Given the description of an element on the screen output the (x, y) to click on. 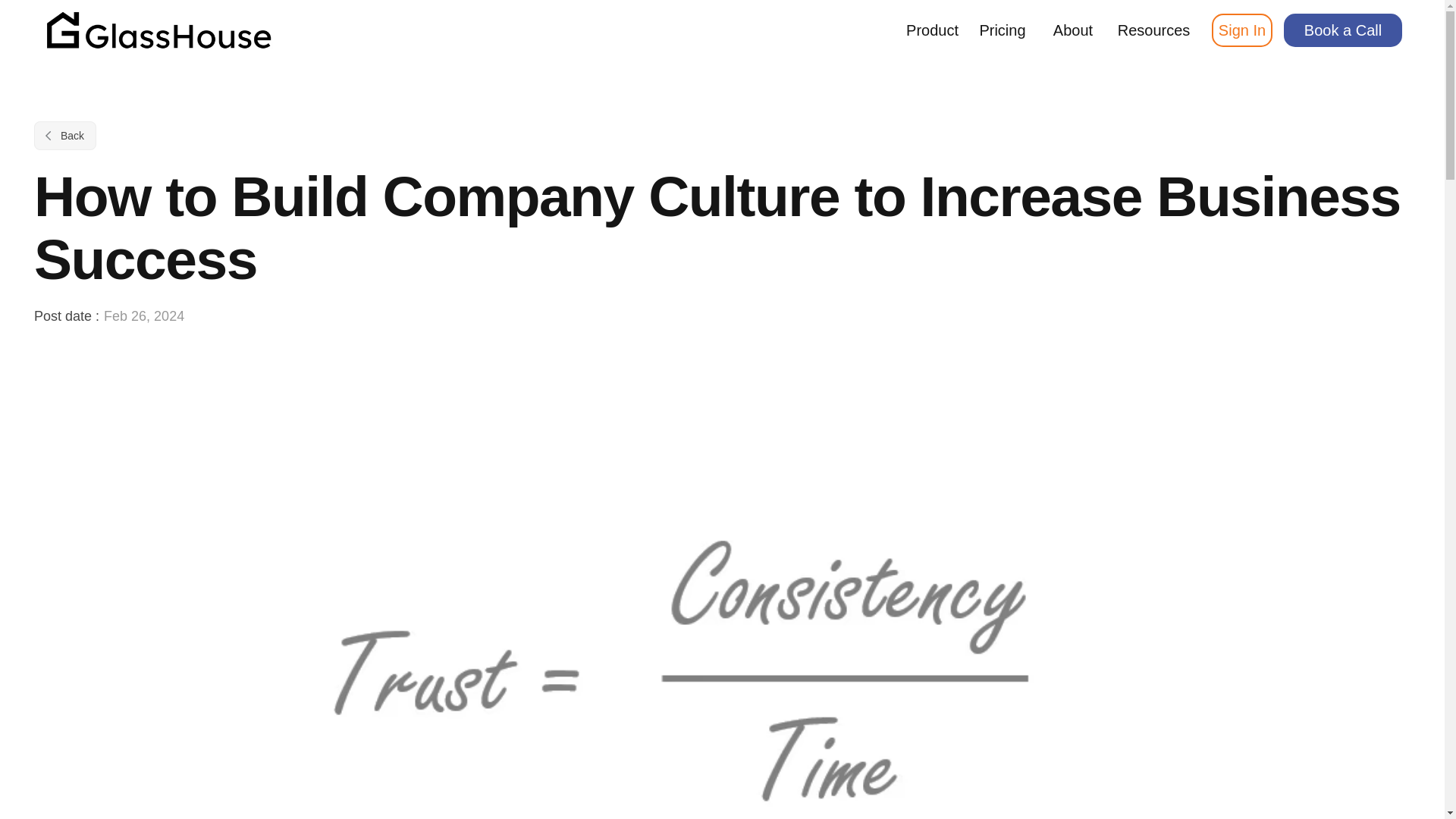
Product (931, 30)
About (1072, 30)
Book a Call (1341, 29)
Back (64, 135)
Sign In (1241, 29)
Resources (1152, 30)
Pricing (1001, 30)
